Given the description of an element on the screen output the (x, y) to click on. 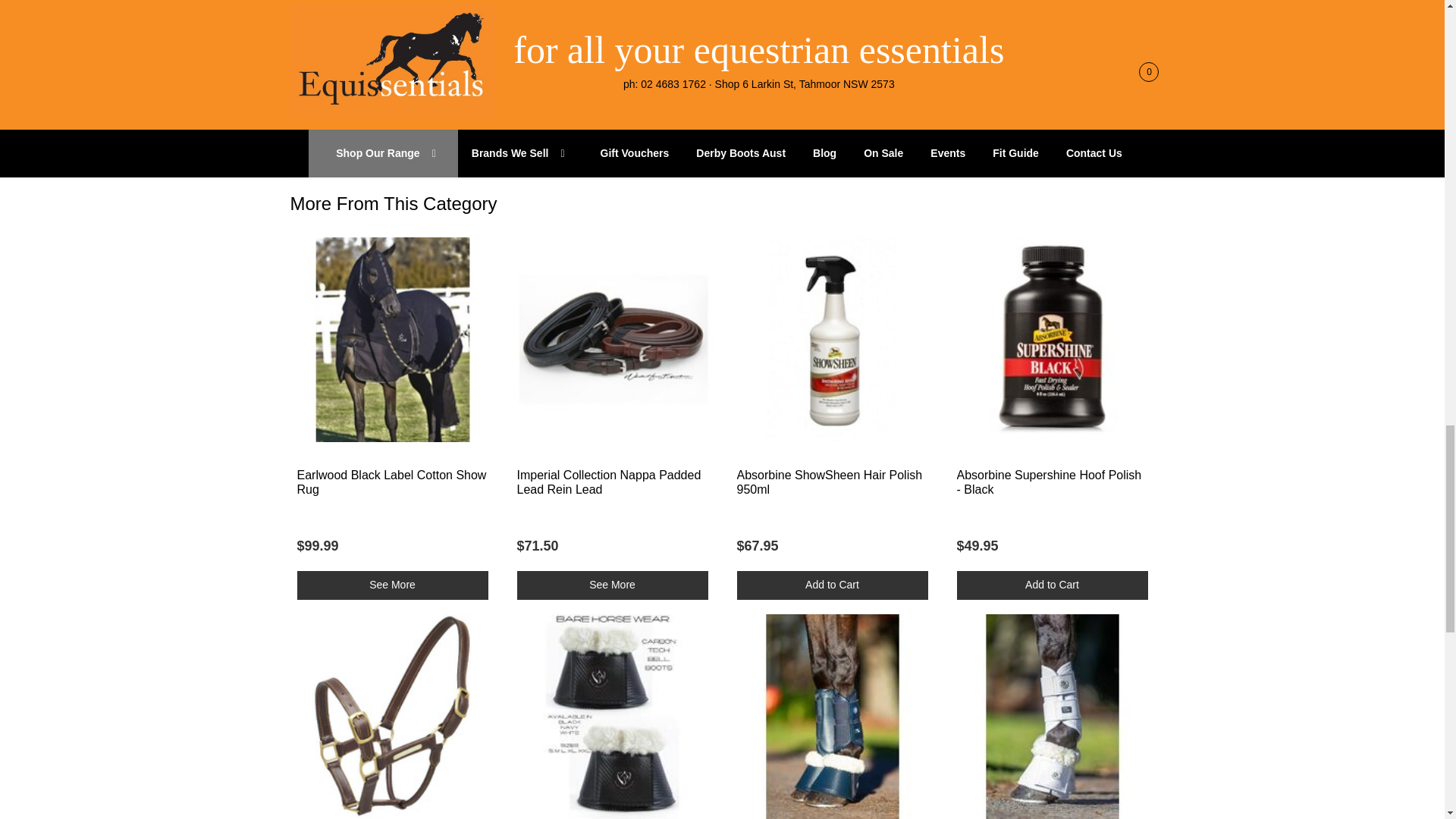
Absorbine Supershine Hoof Polish - Black (1048, 482)
Rapigel (536, 24)
Absorbine ShowSheen Hair Polish 950ml (829, 482)
Naturalcare Joint Armour GLMP (382, 24)
Add to Cart (392, 133)
Add to Cart (1052, 584)
Add to Cart (832, 584)
 Imperial Collection Nappa Padded Lead Rein Lead (608, 482)
 Earlwood Black Label Cotton Show Rug (391, 482)
Buying Options (392, 584)
